Given the description of an element on the screen output the (x, y) to click on. 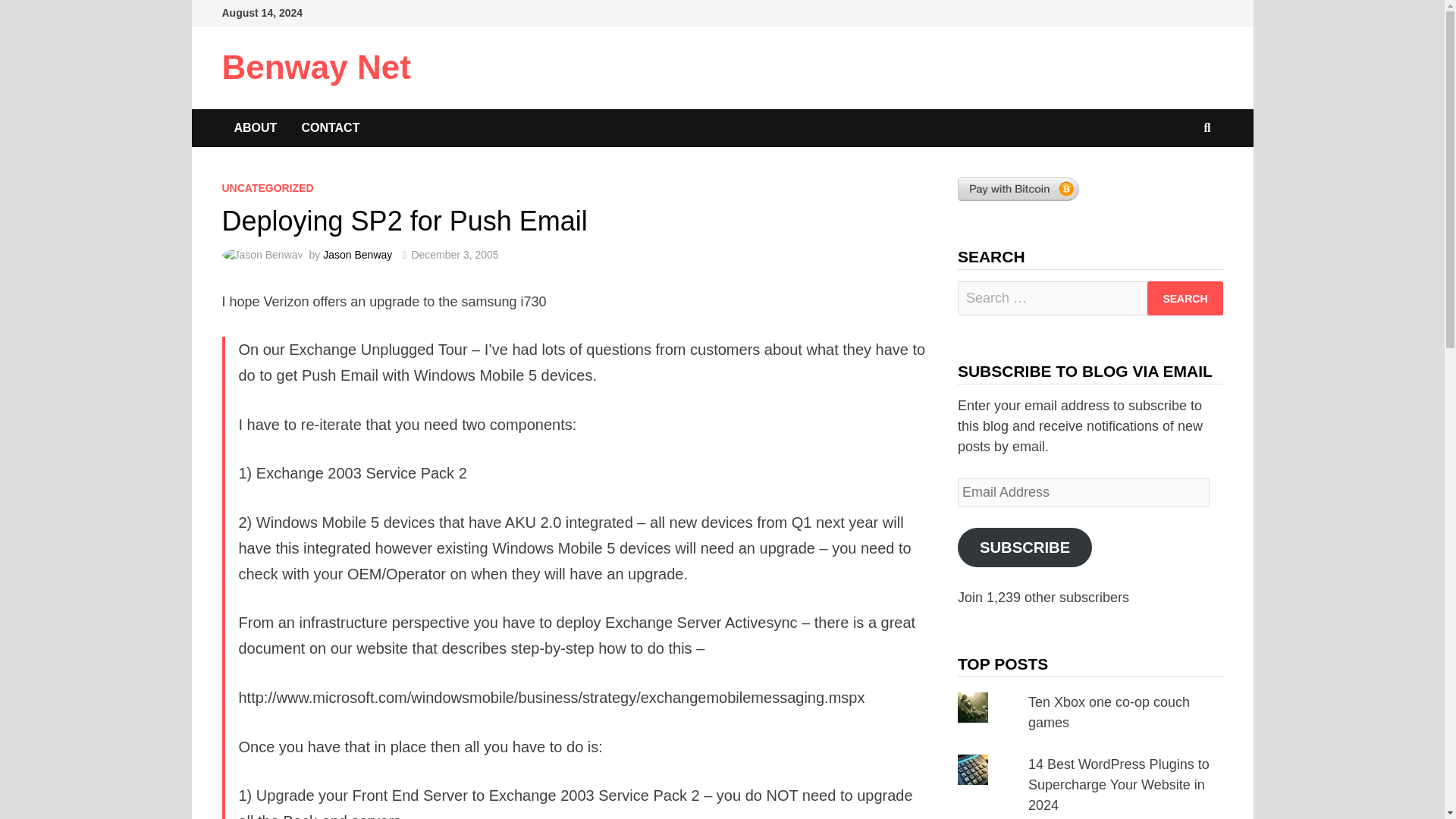
Ten Xbox one co-op couch games (1108, 712)
CONTACT (329, 127)
Benway Net (315, 66)
Search (1185, 298)
Search (1185, 298)
ABOUT (254, 127)
Jason Benway (357, 254)
Search (1185, 298)
December 3, 2005 (453, 254)
